Given the description of an element on the screen output the (x, y) to click on. 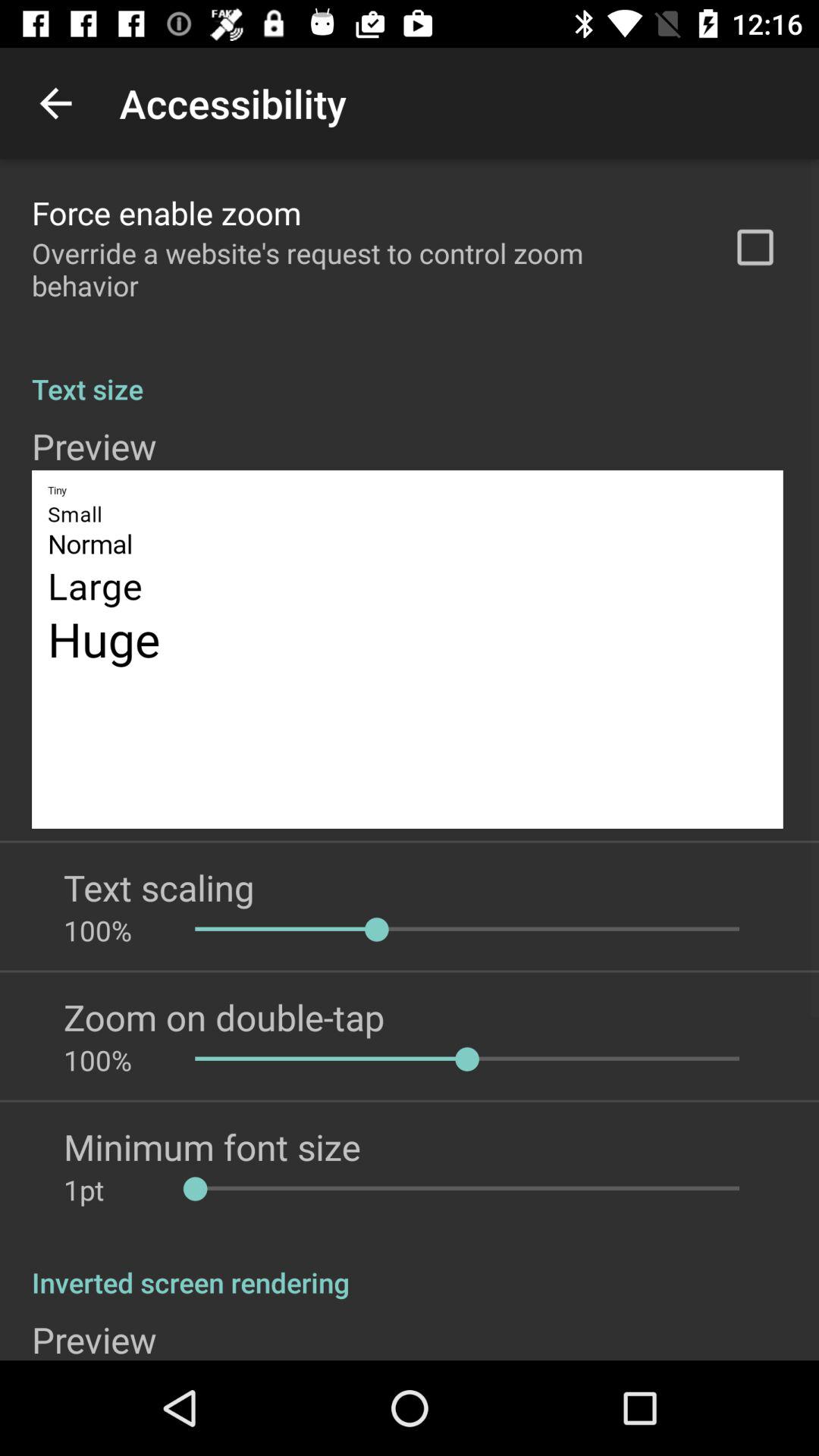
choose icon above force enable zoom app (55, 103)
